Given the description of an element on the screen output the (x, y) to click on. 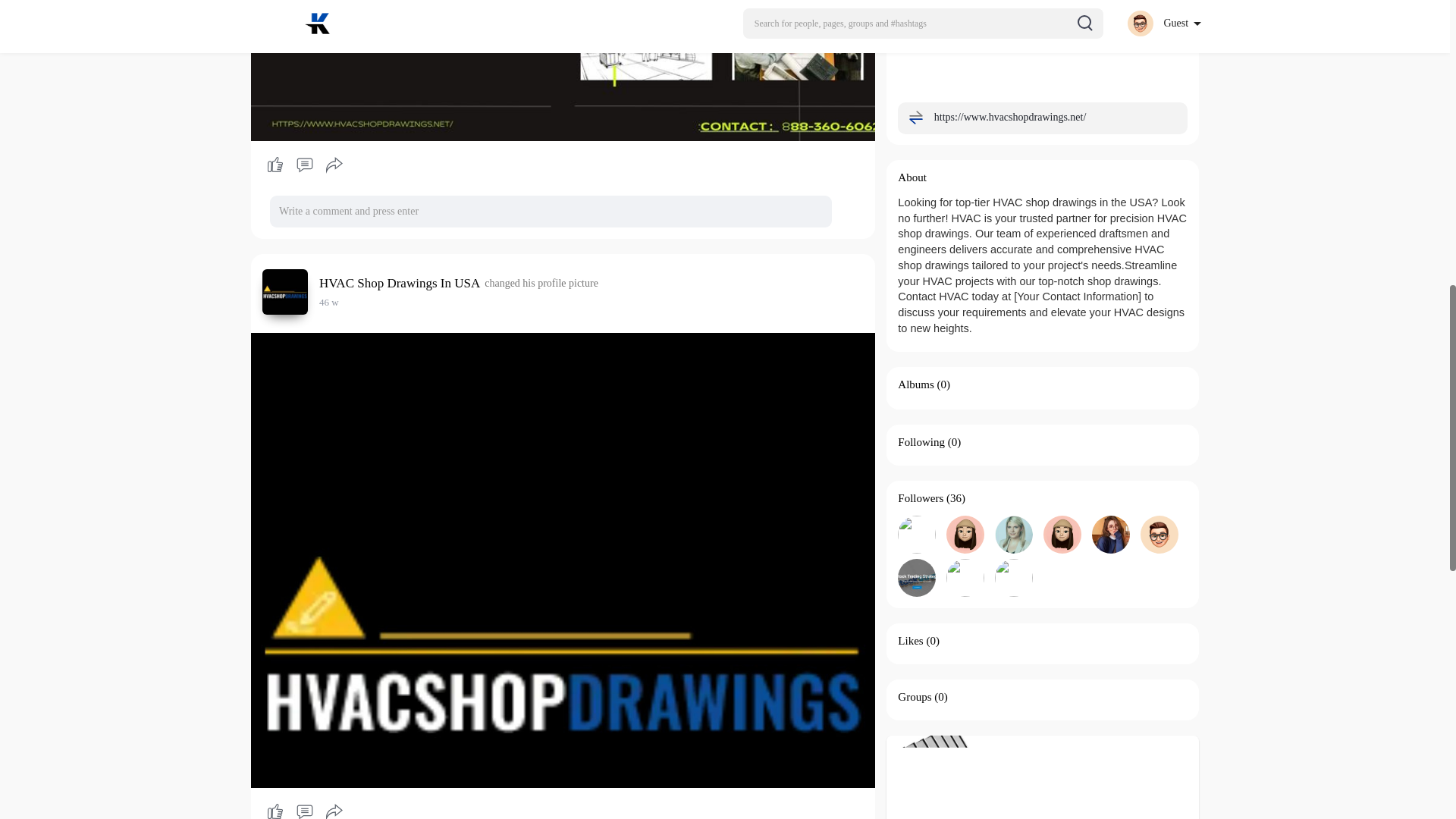
Following (921, 441)
Comments (304, 165)
Share (334, 809)
Albums (916, 384)
46 w (328, 301)
46 w (328, 301)
Comments (304, 809)
Followers (920, 498)
Likes (910, 640)
Share (334, 165)
